Given the description of an element on the screen output the (x, y) to click on. 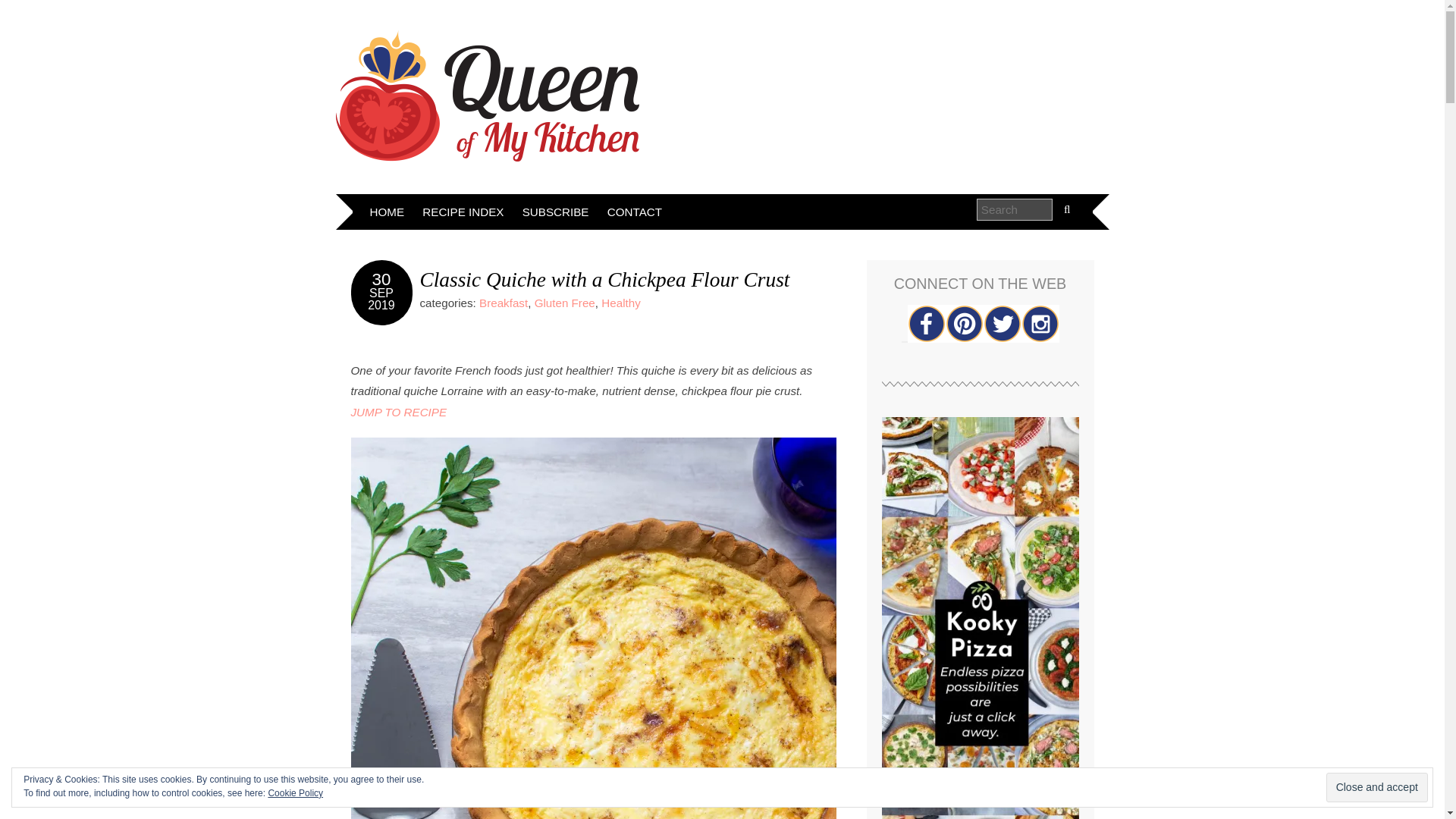
Breakfast (503, 302)
Close and accept (1377, 787)
30 (381, 279)
JUMP TO RECIPE (398, 411)
Gluten Free (564, 302)
Queen of My Kitchen (486, 95)
SUBSCRIBE (555, 212)
Classic Quiche with a Chickpea Flour Crust (605, 279)
RECIPE INDEX (462, 212)
CONTACT (634, 212)
HOME (387, 212)
Healthy (620, 302)
